Given the description of an element on the screen output the (x, y) to click on. 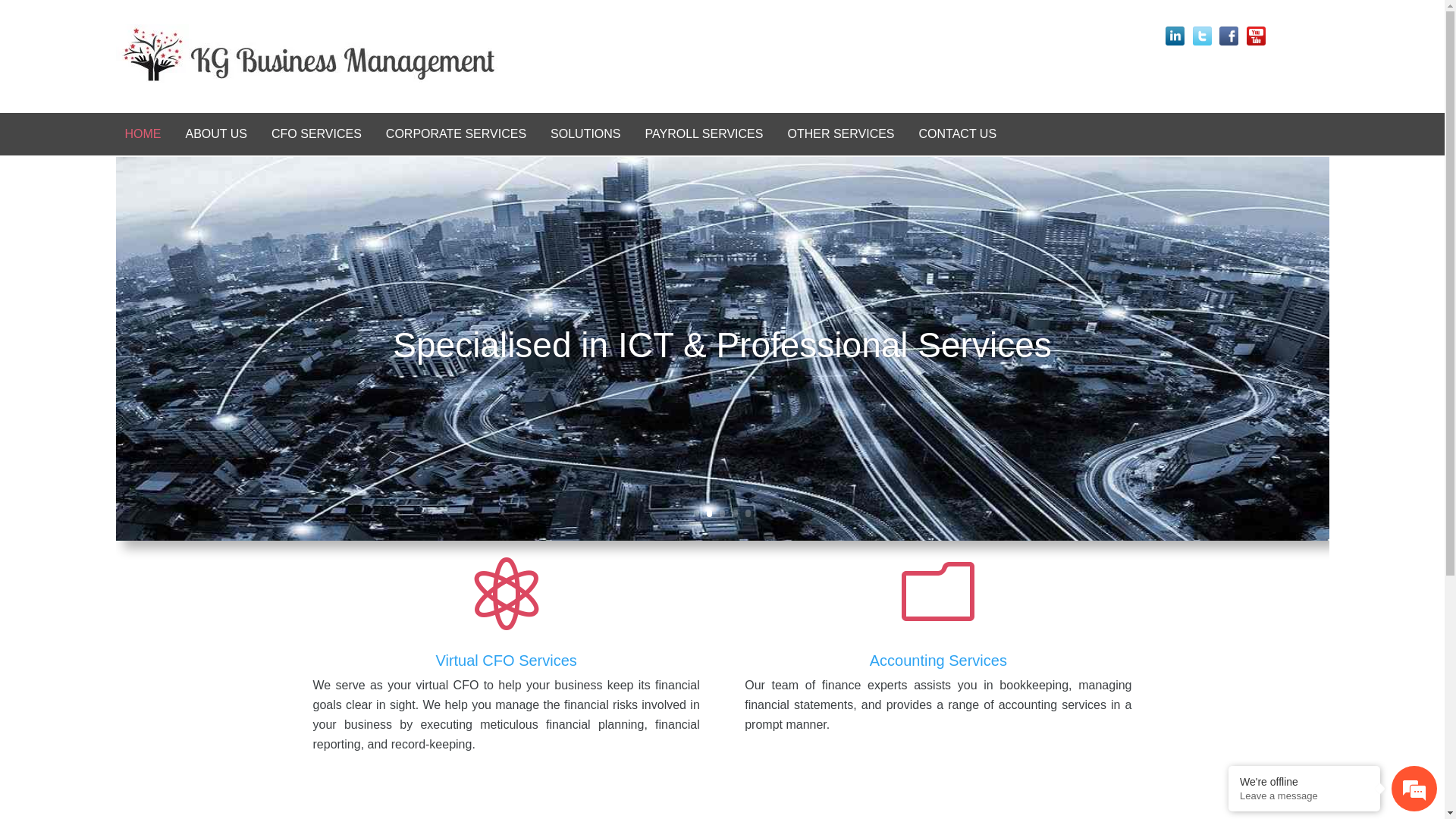
Accounting Services Element type: text (938, 664)
5 Element type: text (747, 513)
SOLUTIONS Element type: text (585, 134)
3 Element type: text (721, 513)
2 Element type: text (709, 513)
1 Element type: text (696, 513)
HOME Element type: text (142, 134)
OTHER SERVICES Element type: text (840, 134)
m Element type: text (937, 593)
CORPORATE SERVICES Element type: text (455, 134)
Virtual CFO Services Element type: text (505, 664)
CFO SERVICES Element type: text (316, 134)
PAYROLL SERVICES Element type: text (704, 134)
CONTACT US Element type: text (958, 134)
4 Element type: text (734, 513)
ABOUT US Element type: text (215, 134)
